Given the description of an element on the screen output the (x, y) to click on. 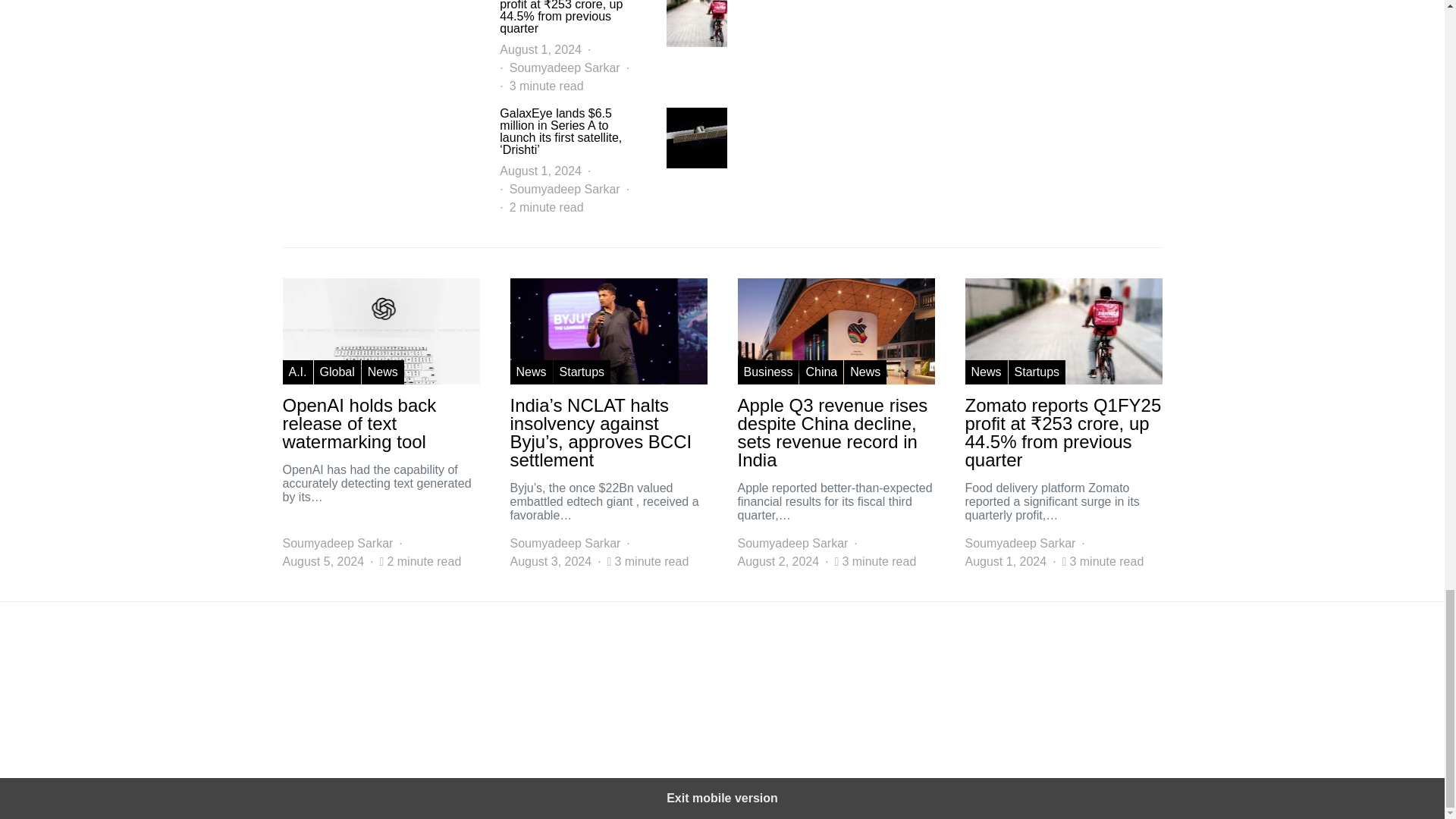
View all posts by Soumyadeep Sarkar (564, 67)
View all posts by Soumyadeep Sarkar (564, 543)
View all posts by Soumyadeep Sarkar (1019, 543)
View all posts by Soumyadeep Sarkar (337, 543)
View all posts by Soumyadeep Sarkar (564, 189)
View all posts by Soumyadeep Sarkar (791, 543)
